Given the description of an element on the screen output the (x, y) to click on. 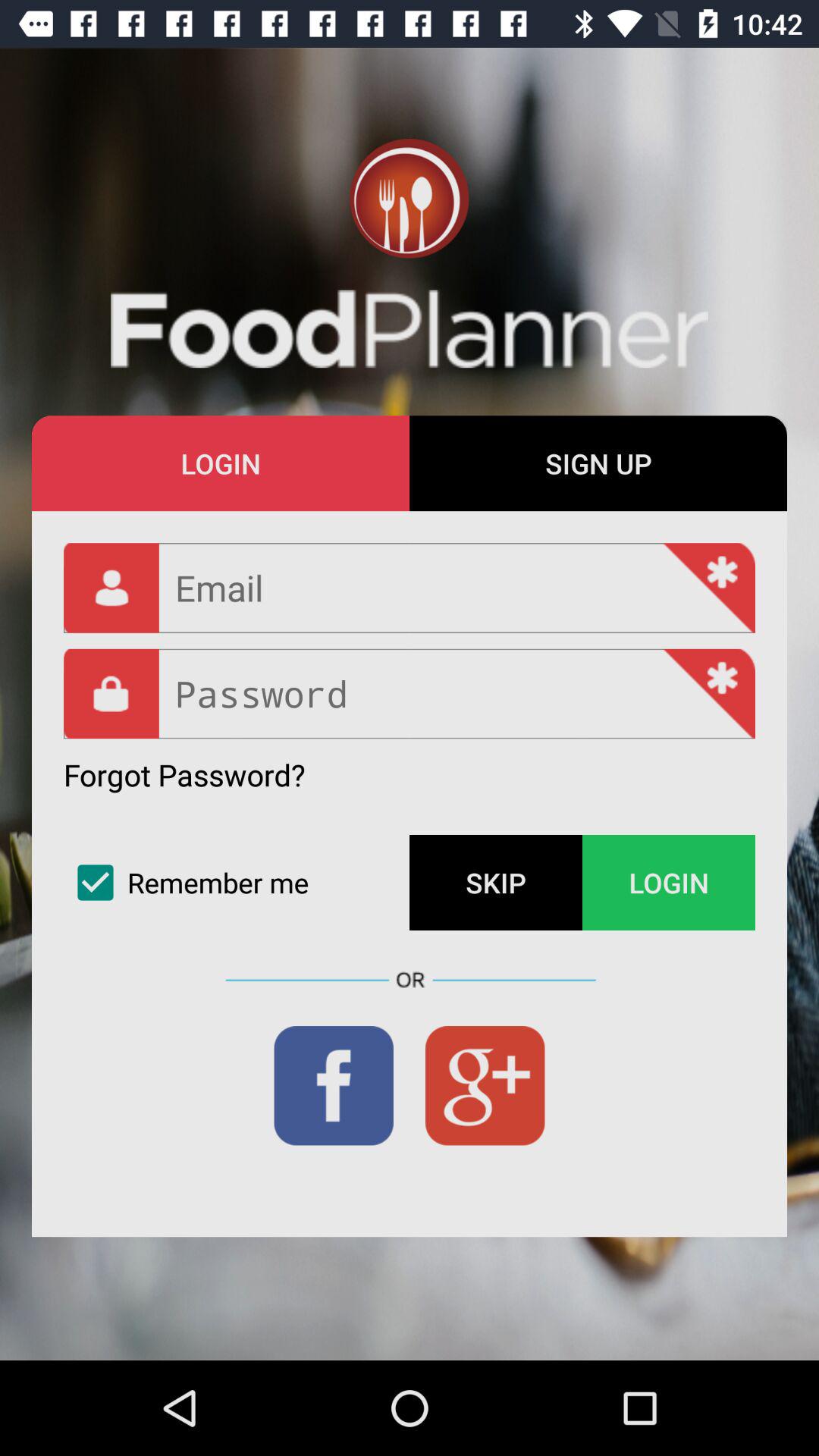
press the sign up at the top right corner (598, 463)
